Given the description of an element on the screen output the (x, y) to click on. 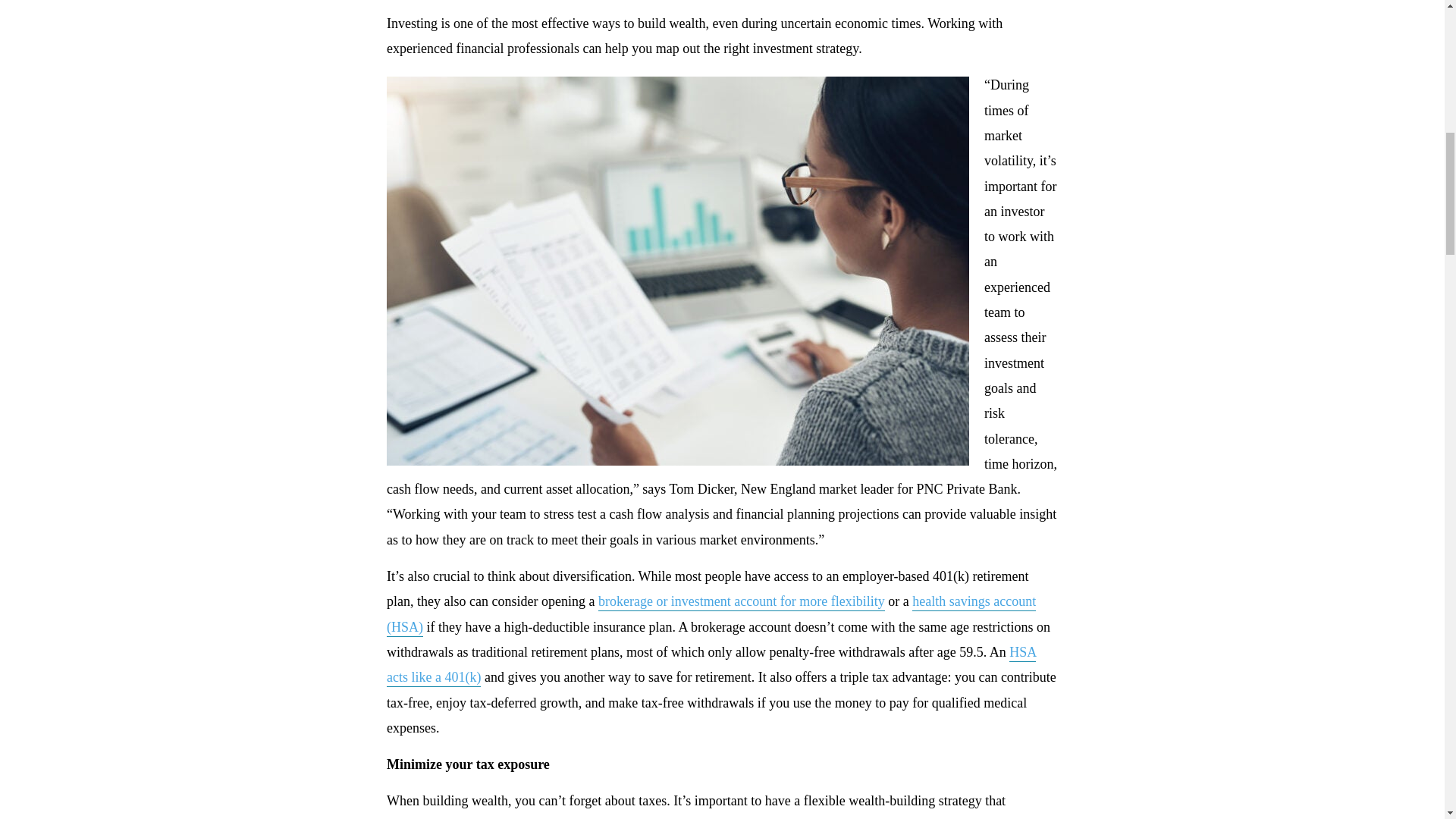
brokerage or investment account for more flexibility (741, 601)
